Given the description of an element on the screen output the (x, y) to click on. 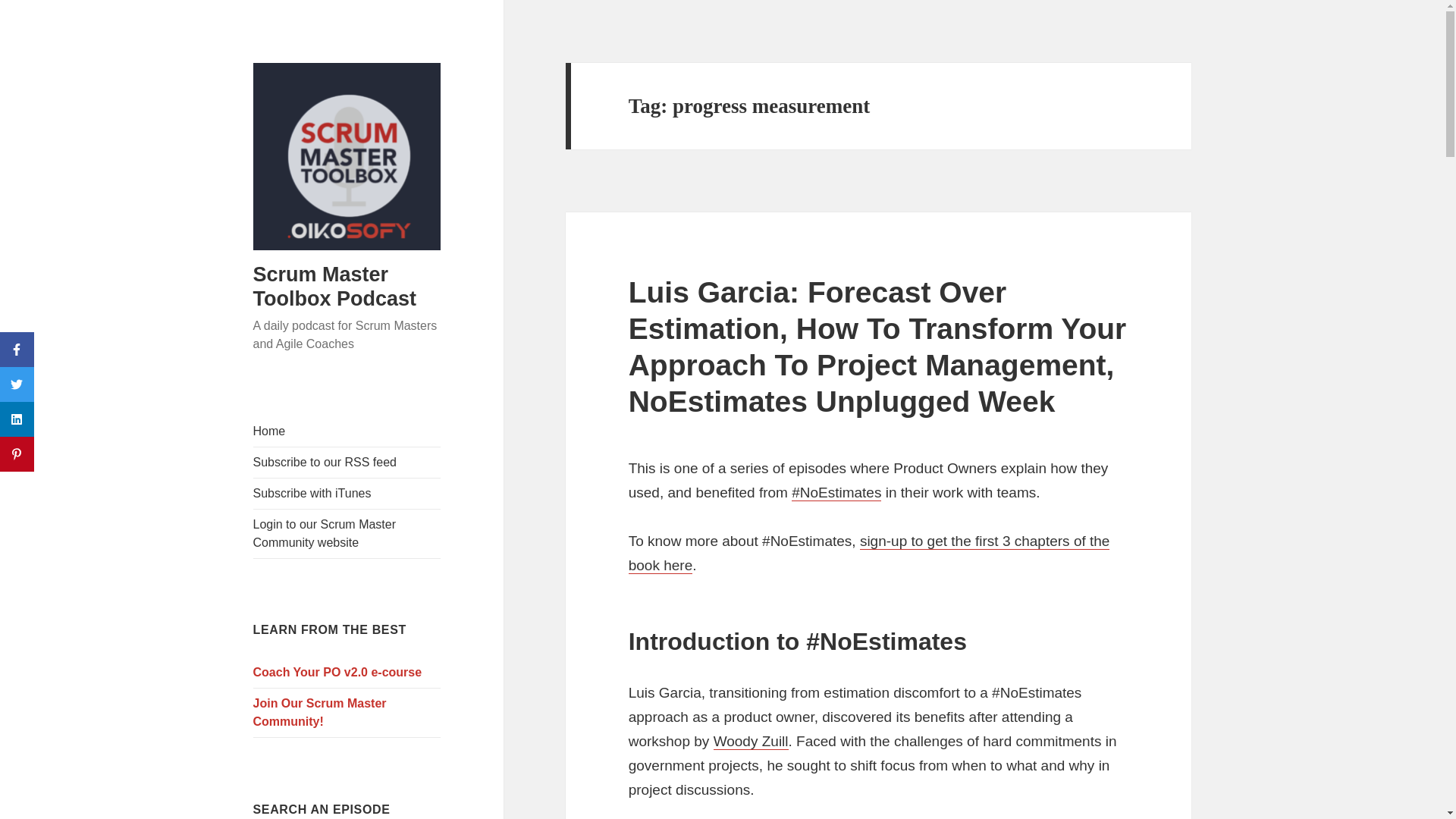
Subscribe with iTunes (347, 493)
Join Our Scrum Master Community! (347, 712)
sign-up to get the first 3 chapters of the book here (868, 553)
Home (347, 431)
Subscribe to our RSS feed (347, 462)
Scrum Master Toolbox Podcast (334, 286)
Woody Zuill (751, 741)
Login to our Scrum Master Community website (347, 533)
Coach Your PO v2.0 e-course (347, 672)
